Given the description of an element on the screen output the (x, y) to click on. 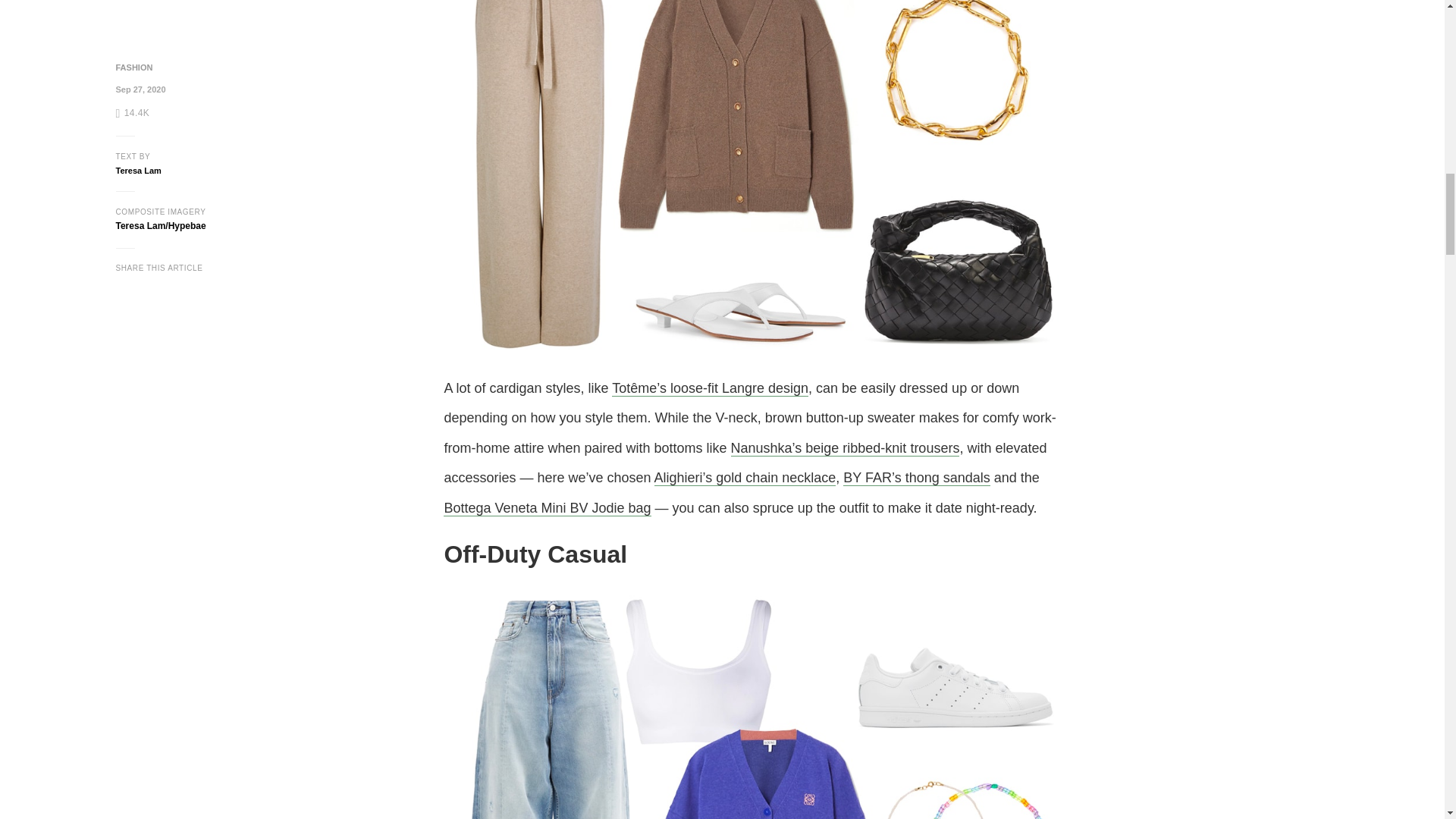
Bottega Veneta Mini BV Jodie bag (547, 508)
